Given the description of an element on the screen output the (x, y) to click on. 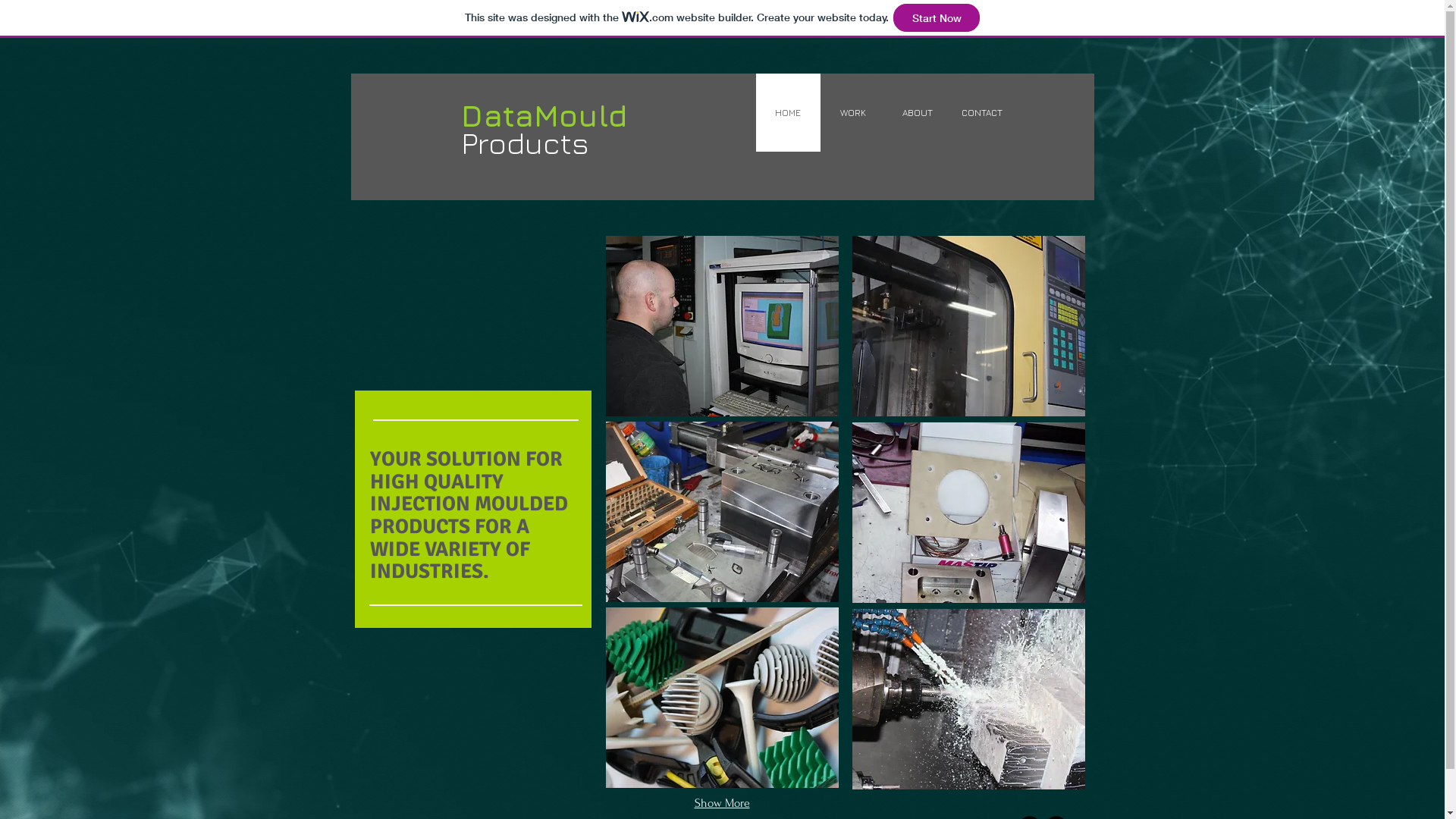
WORK Element type: text (852, 112)
CONTACT Element type: text (981, 112)
Show More Element type: text (722, 803)
HOME Element type: text (787, 112)
ABOUT Element type: text (916, 112)
